Given the description of an element on the screen output the (x, y) to click on. 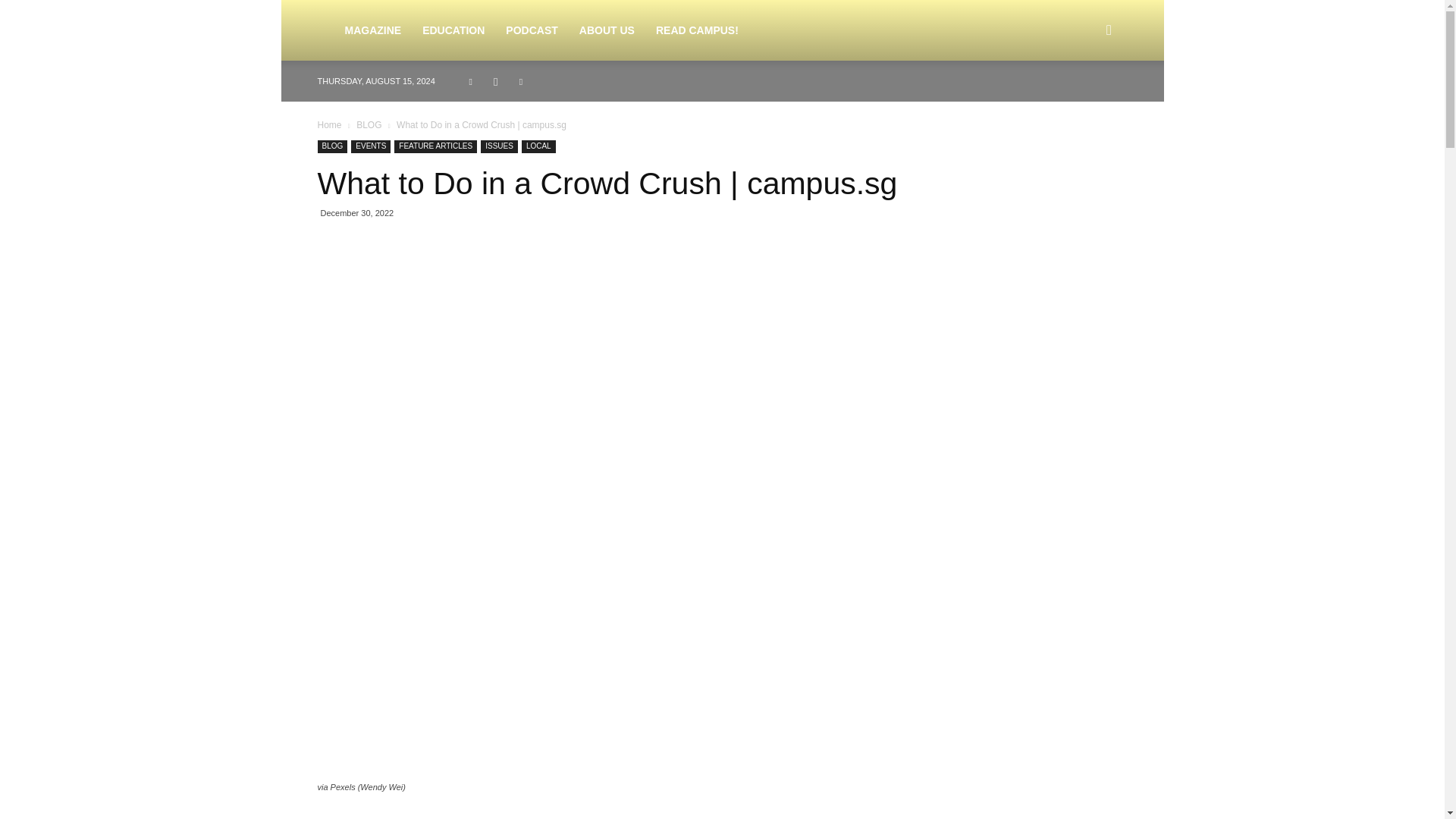
View all posts in BLOG (368, 124)
MAGAZINE (372, 30)
READ CAMPUS! (697, 30)
Search (1085, 102)
ISSUES (499, 146)
ABOUT US (607, 30)
PODCAST (531, 30)
Home (328, 124)
BLOG (368, 124)
EDUCATION (453, 30)
